Given the description of an element on the screen output the (x, y) to click on. 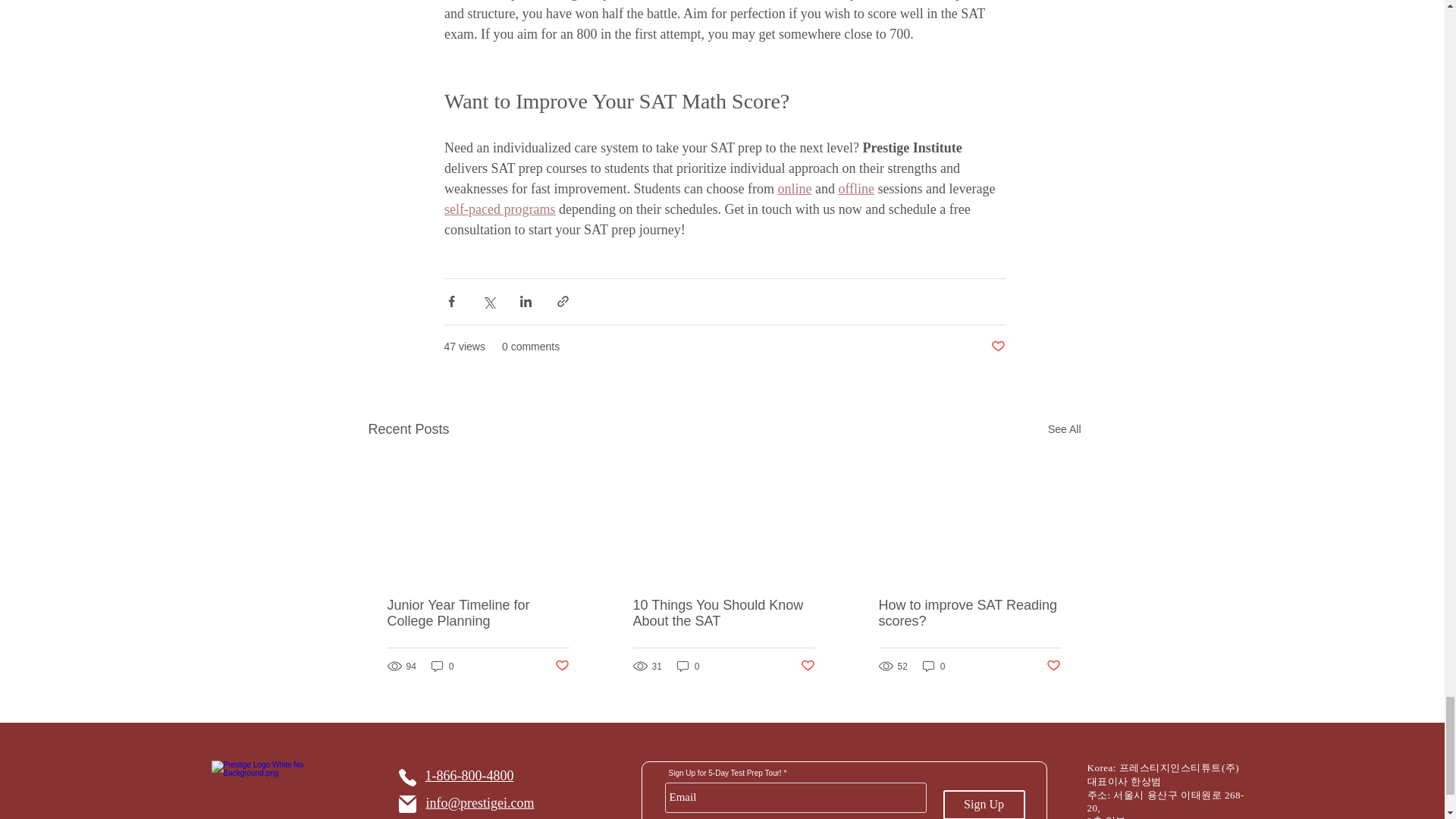
Junior Year Timeline for College Planning (478, 613)
self-paced programs (499, 209)
offline (856, 188)
online (793, 188)
0 (442, 666)
Post not marked as liked (561, 666)
See All (1064, 429)
Post not marked as liked (997, 346)
